Given the description of an element on the screen output the (x, y) to click on. 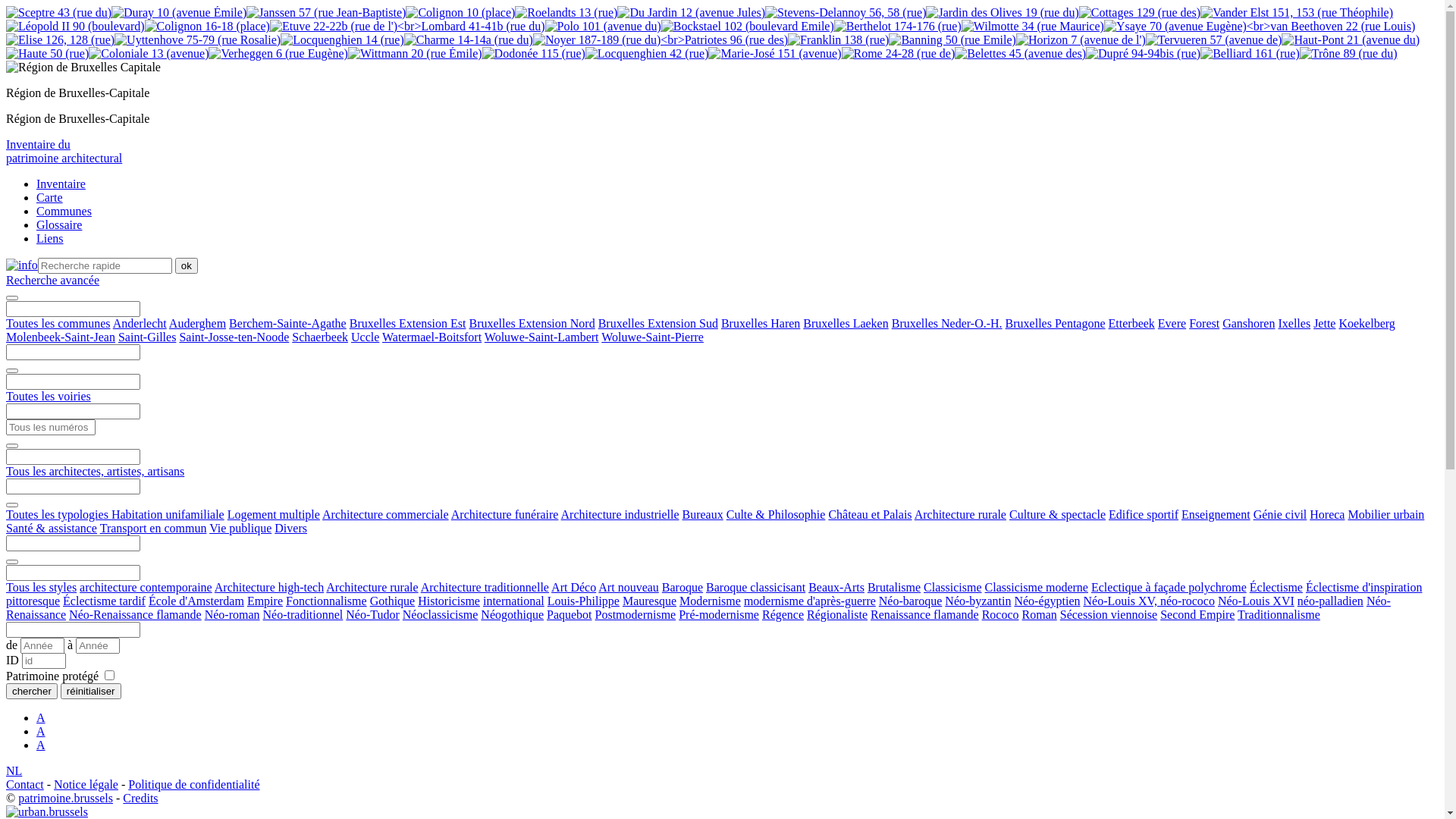
Contact Element type: text (24, 784)
patrimoine.brussels Element type: text (65, 797)
Inventaire du
patrimoine architectural Element type: text (64, 151)
Transport en commun Element type: text (153, 527)
Divers Element type: text (290, 527)
Horeca Element type: text (1326, 514)
Classicisme moderne Element type: text (1036, 586)
Habitation unifamiliale Element type: text (167, 514)
Rococo Element type: text (1000, 614)
Woluwe-Saint-Pierre Element type: text (652, 336)
Bruxelles Haren Element type: text (760, 322)
Architecture commerciale Element type: text (385, 514)
Etterbeek Element type: text (1131, 322)
chercher Element type: text (31, 691)
A Element type: text (40, 730)
Inventaire Element type: text (60, 183)
architecture contemporaine Element type: text (145, 586)
Mobilier urbain Element type: text (1385, 514)
Credits Element type: text (139, 797)
Communes Element type: text (63, 210)
Paquebot Element type: text (569, 614)
Art nouveau Element type: text (628, 586)
Culte & Philosophie Element type: text (775, 514)
Architecture high-tech Element type: text (268, 586)
Architecture industrielle Element type: text (620, 514)
Glossaire Element type: text (58, 224)
Watermael-Boitsfort Element type: text (431, 336)
Auderghem Element type: text (197, 322)
Fonctionnalisme Element type: text (326, 600)
Baroque Element type: text (682, 586)
Edifice sportif Element type: text (1143, 514)
Toutes les voiries Element type: text (48, 395)
Architecture rurale Element type: text (371, 586)
Jette Element type: text (1324, 322)
Classicisme Element type: text (952, 586)
Bruxelles Pentagone Element type: text (1055, 322)
international Element type: text (513, 600)
ok Element type: text (186, 265)
Bruxelles Neder-O.-H. Element type: text (946, 322)
A Element type: text (40, 717)
Toutes les typologies Element type: text (58, 514)
A Element type: text (40, 744)
Architecture rurale Element type: text (960, 514)
Forest Element type: text (1204, 322)
Logement multiple Element type: text (273, 514)
Evere Element type: text (1171, 322)
Toutes les communes Element type: text (58, 322)
Beaux-Arts Element type: text (836, 586)
Anderlecht Element type: text (139, 322)
Second Empire Element type: text (1197, 614)
Enseignement Element type: text (1215, 514)
Uccle Element type: text (365, 336)
Molenbeek-Saint-Jean Element type: text (60, 336)
Ganshoren Element type: text (1248, 322)
NL Element type: text (13, 770)
Saint-Josse-ten-Noode Element type: text (233, 336)
Gothique Element type: text (392, 600)
Postmodernisme Element type: text (635, 614)
Modernisme Element type: text (709, 600)
Culture & spectacle Element type: text (1057, 514)
Tous les architectes, artistes, artisans Element type: text (95, 470)
Baroque classicisant Element type: text (755, 586)
Empire Element type: text (264, 600)
Bureaux Element type: text (702, 514)
Historicisme Element type: text (448, 600)
Bruxelles Extension Sud Element type: text (658, 322)
Bruxelles Laeken Element type: text (845, 322)
Carte Element type: text (49, 197)
Brutalisme Element type: text (893, 586)
Renaissance flamande Element type: text (924, 614)
Tous les styles Element type: text (41, 586)
Traditionnalisme Element type: text (1278, 614)
Schaerbeek Element type: text (319, 336)
Saint-Gilles Element type: text (146, 336)
Vie publique Element type: text (240, 527)
Bruxelles Extension Nord Element type: text (531, 322)
Berchem-Sainte-Agathe Element type: text (287, 322)
Roman Element type: text (1039, 614)
Ixelles Element type: text (1293, 322)
Koekelberg Element type: text (1366, 322)
Bruxelles Extension Est Element type: text (407, 322)
Liens Element type: text (49, 238)
Woluwe-Saint-Lambert Element type: text (541, 336)
Mauresque Element type: text (649, 600)
Architecture traditionnelle Element type: text (484, 586)
Louis-Philippe Element type: text (583, 600)
